Given the description of an element on the screen output the (x, y) to click on. 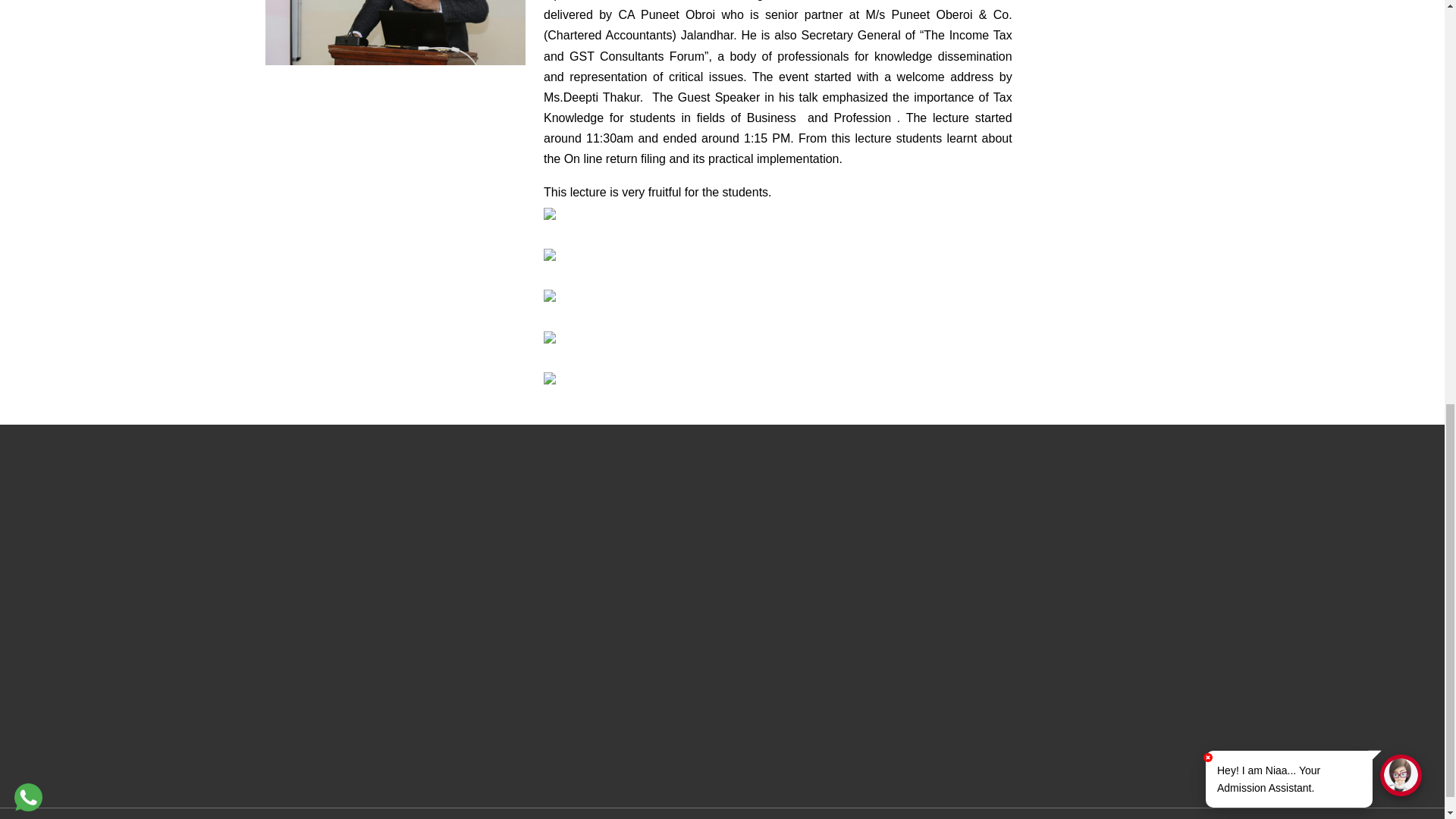
Restart (1393, 87)
Minimize (1415, 87)
